Given the description of an element on the screen output the (x, y) to click on. 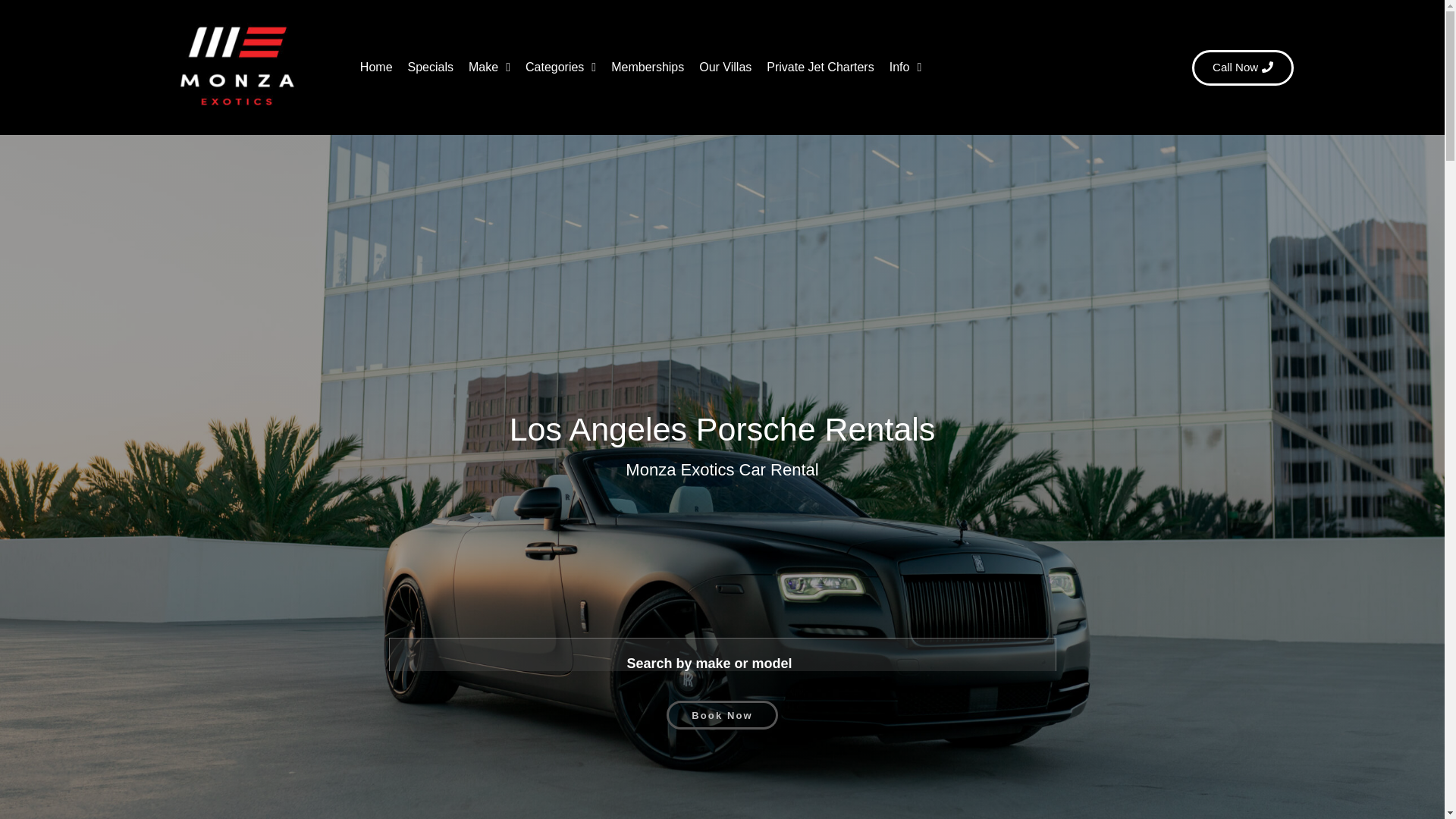
Make (489, 67)
Categories (561, 67)
Home (376, 67)
Specials (430, 67)
